Given the description of an element on the screen output the (x, y) to click on. 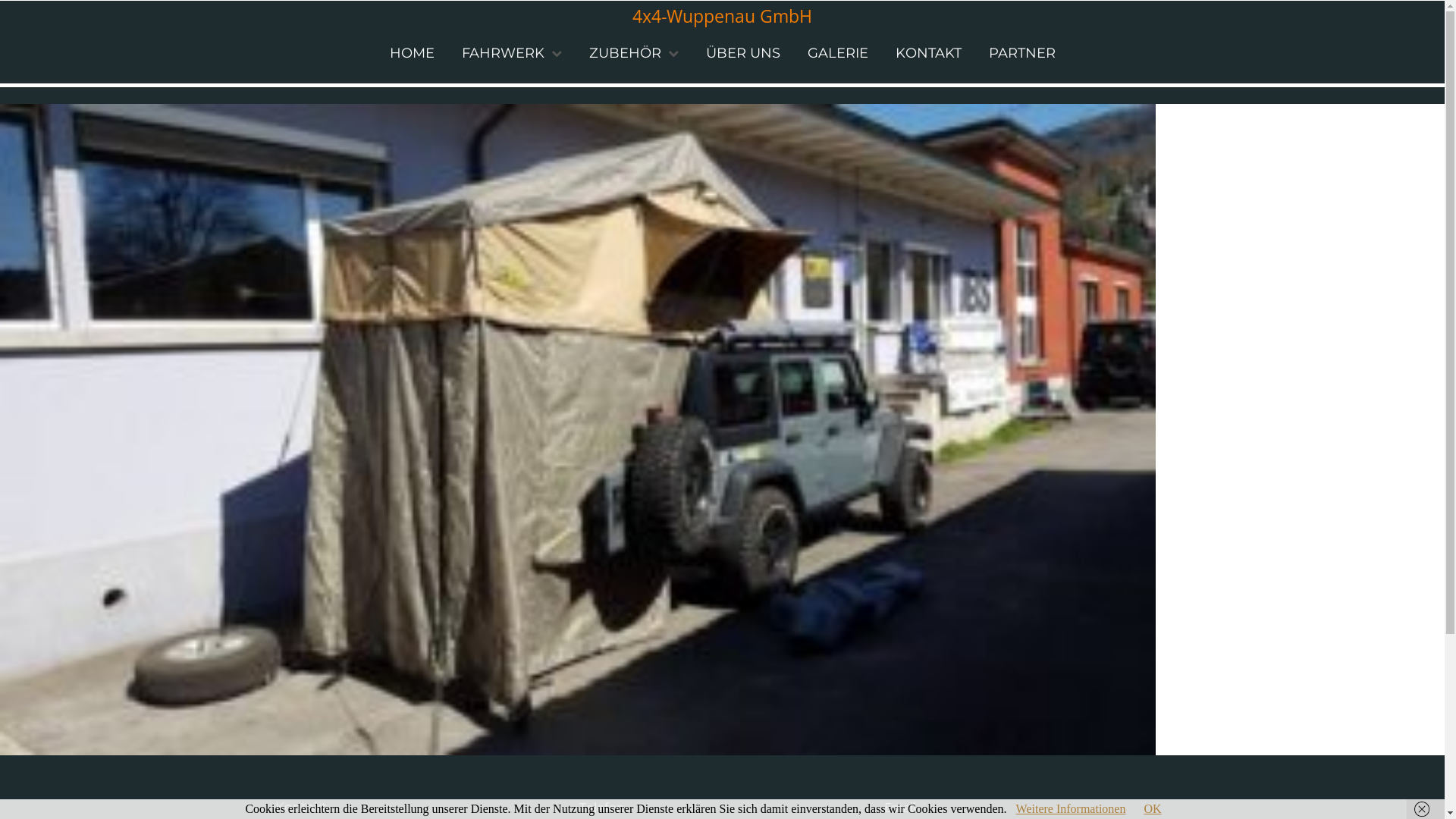
GALERIE Element type: text (836, 52)
Weitere Informationen Element type: text (1071, 808)
PARTNER Element type: text (1021, 52)
HOME Element type: text (411, 52)
FAHRWERK Element type: text (502, 52)
KONTAKT Element type: text (927, 52)
OK Element type: text (1152, 808)
4x4-Wuppenau GmbH Element type: text (722, 15)
